Given the description of an element on the screen output the (x, y) to click on. 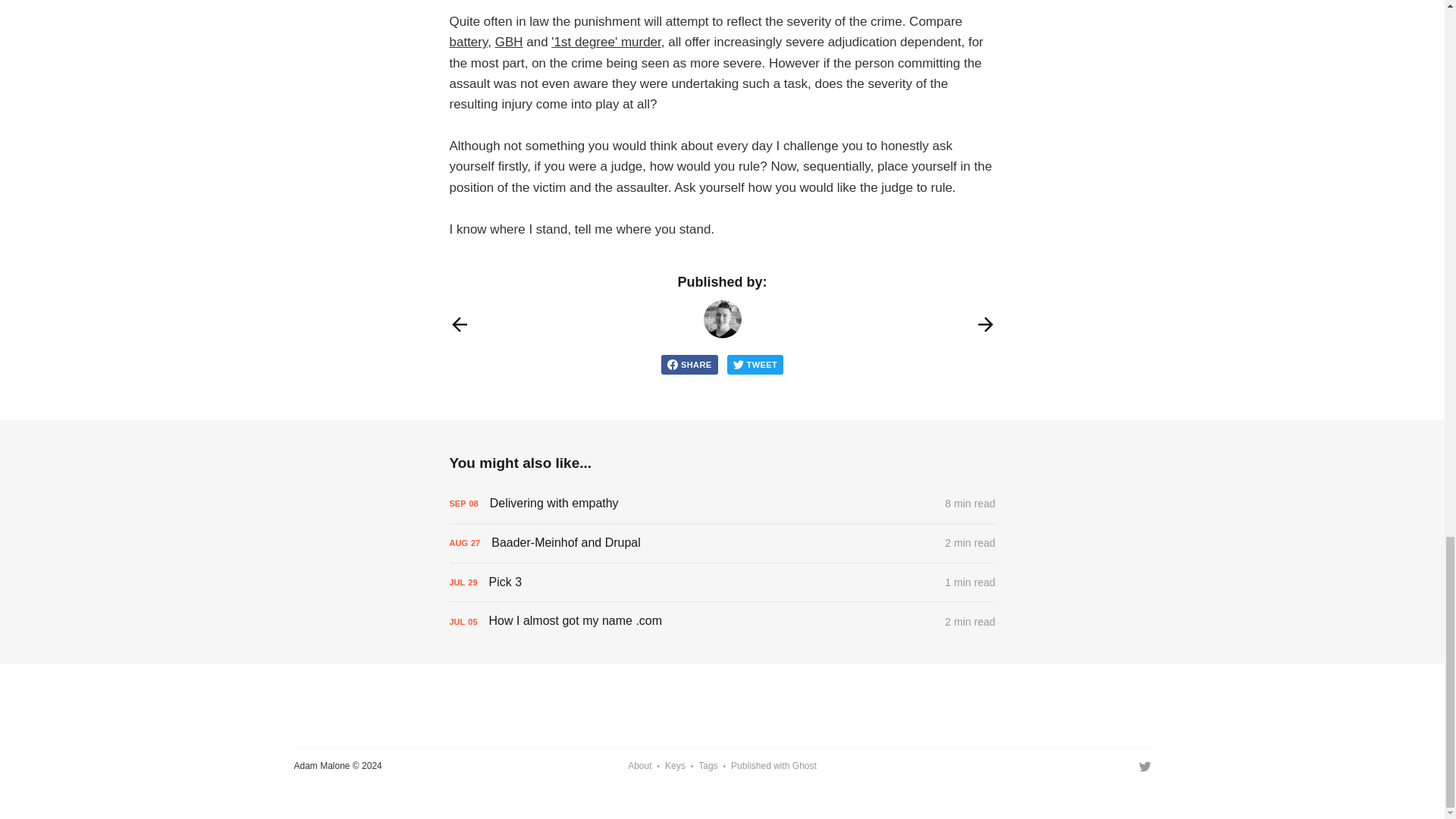
Published with Ghost (773, 766)
About (638, 766)
SHARE (689, 364)
GBH (508, 42)
Keys (675, 766)
'1st degree' murder (606, 42)
Tags (707, 766)
TWEET (755, 364)
battery (467, 42)
